Given the description of an element on the screen output the (x, y) to click on. 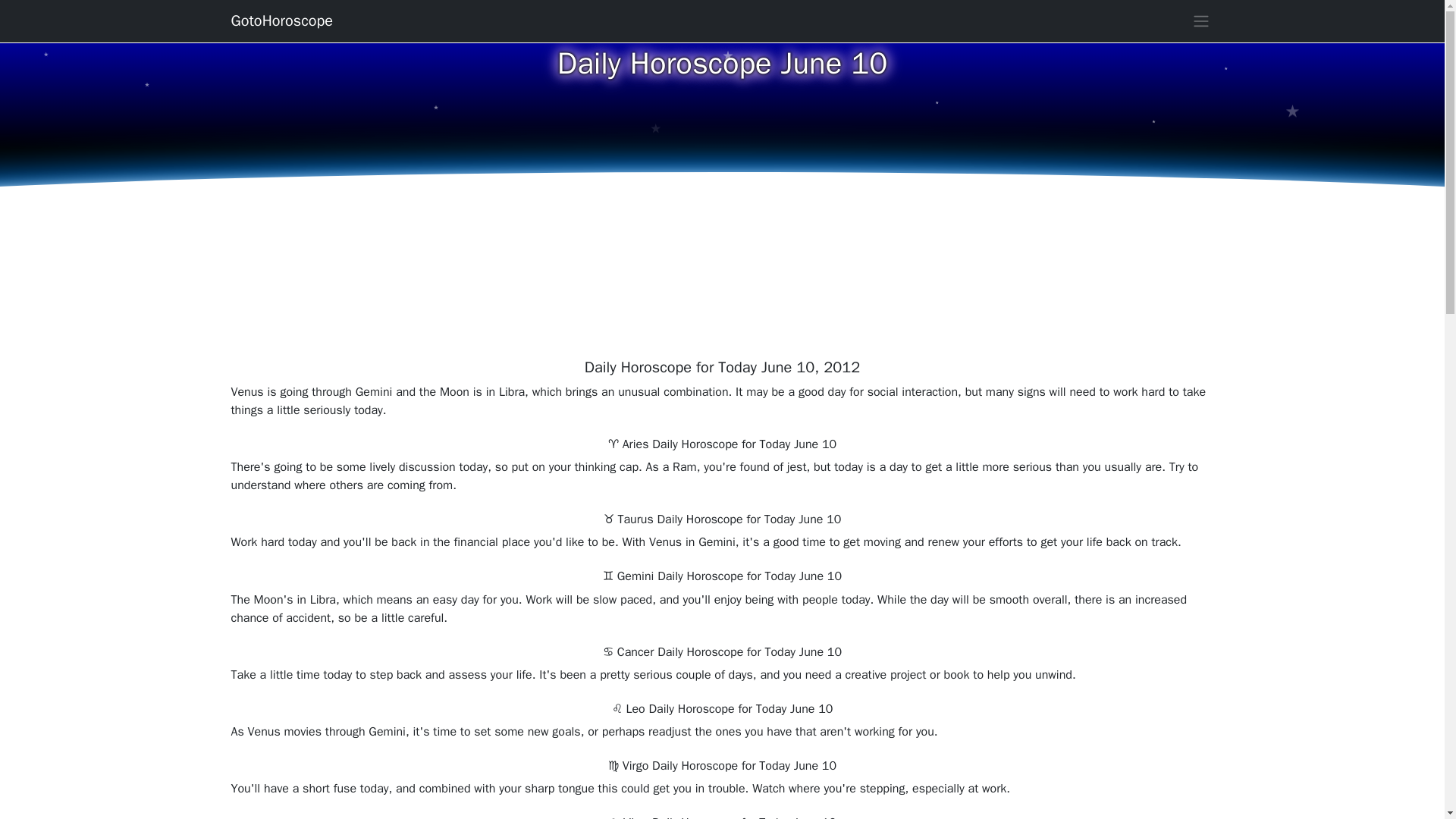
Goto Horoscope Home (281, 20)
GotoHoroscope (281, 20)
